Given the description of an element on the screen output the (x, y) to click on. 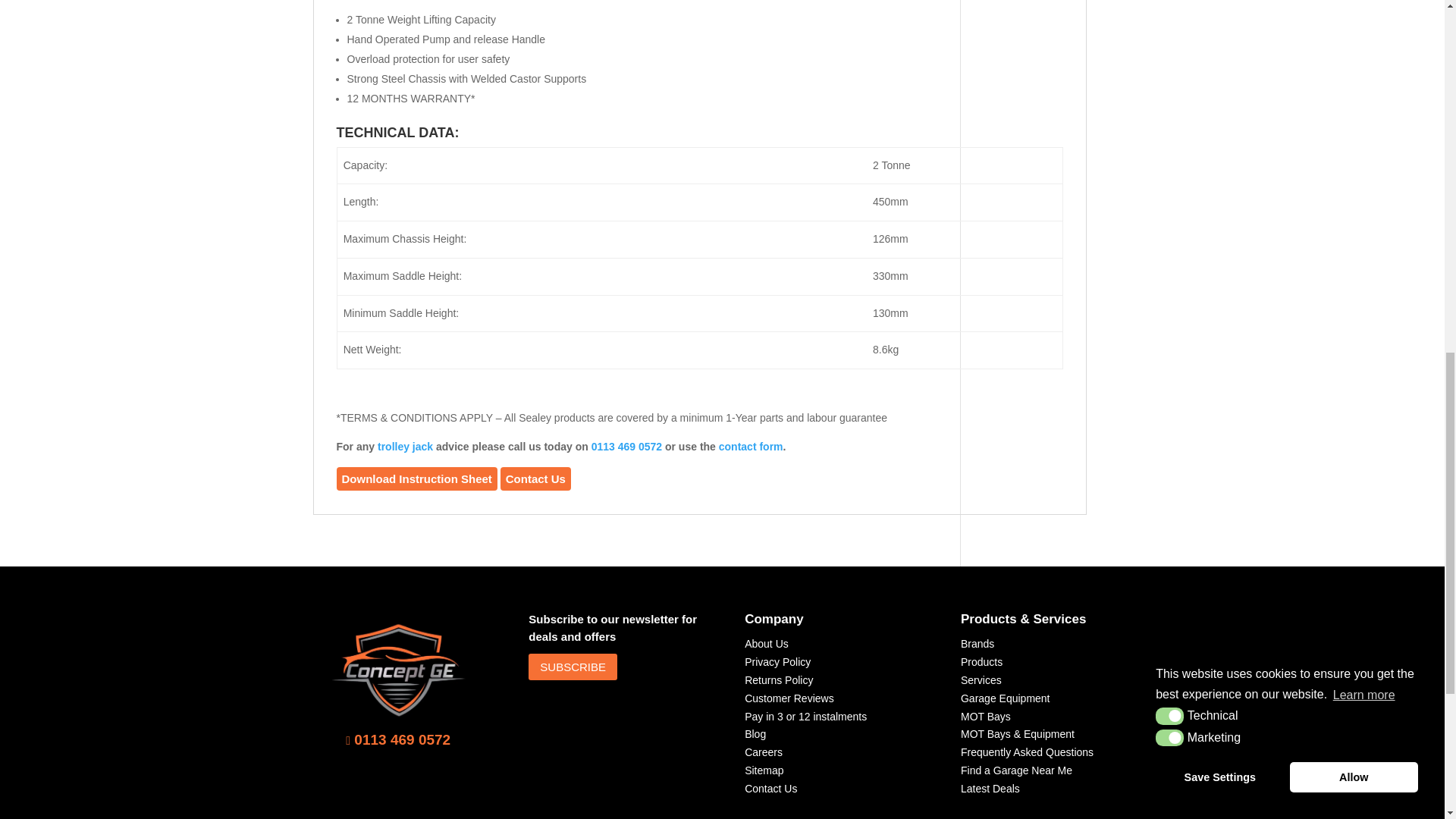
Concept Garage Equipment Logo (398, 669)
